Given the description of an element on the screen output the (x, y) to click on. 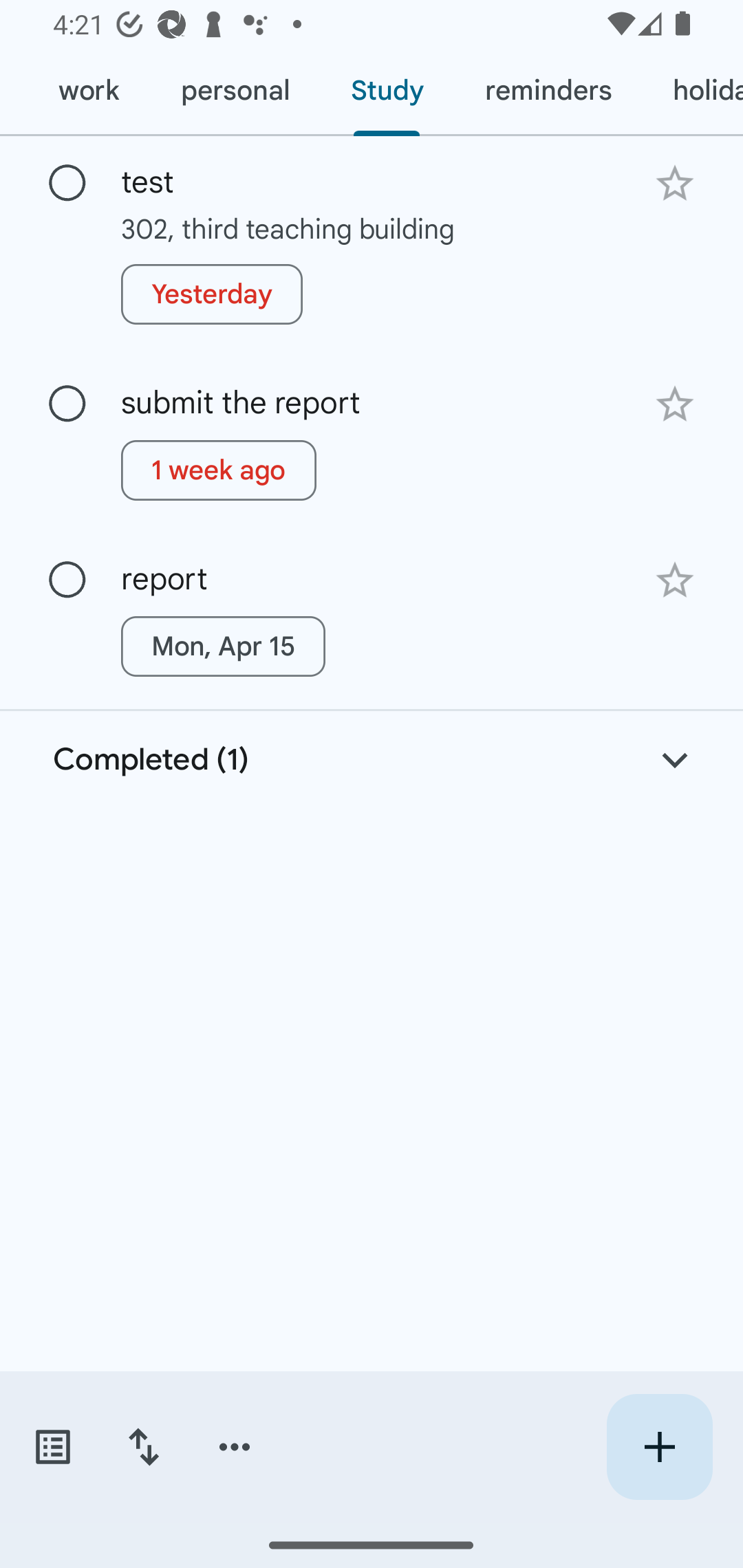
work (88, 90)
personal (235, 90)
reminders (547, 90)
holiday planning (692, 90)
Add star (674, 182)
Mark as complete (67, 183)
302, third teaching building (371, 228)
Yesterday (211, 294)
Add star (674, 404)
Mark as complete (67, 403)
1 week ago (218, 469)
Add star (674, 579)
Mark as complete (67, 580)
Mon, Apr 15 (223, 645)
Completed (1) (371, 760)
Switch task lists (52, 1447)
Create new task (659, 1446)
Change sort order (143, 1446)
More options (234, 1446)
